Given the description of an element on the screen output the (x, y) to click on. 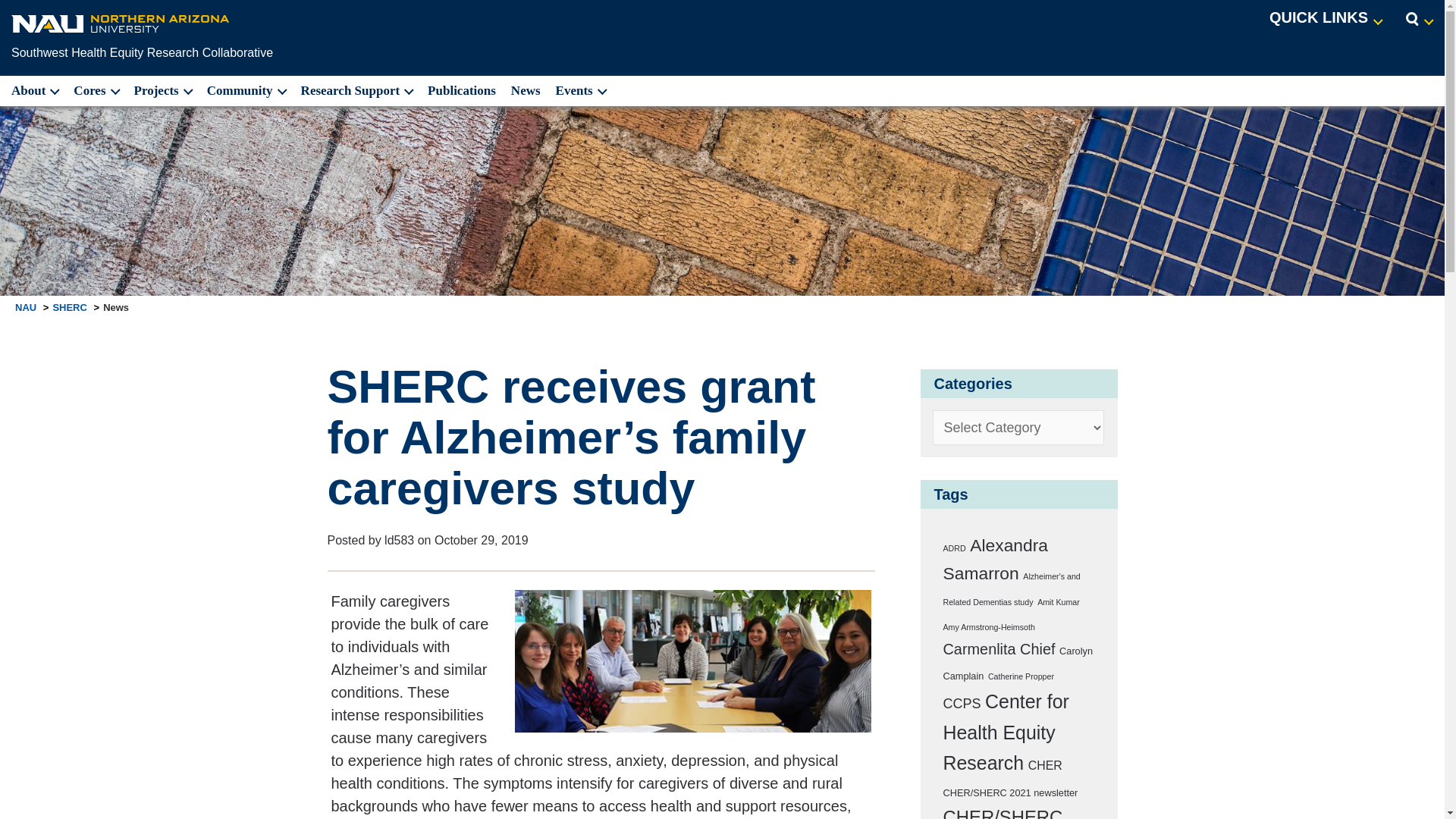
NAU Home (121, 22)
Cores (95, 91)
About (32, 91)
Southwest Health Equity Research Collaborative (141, 52)
QUICK LINKS (1325, 18)
